Given the description of an element on the screen output the (x, y) to click on. 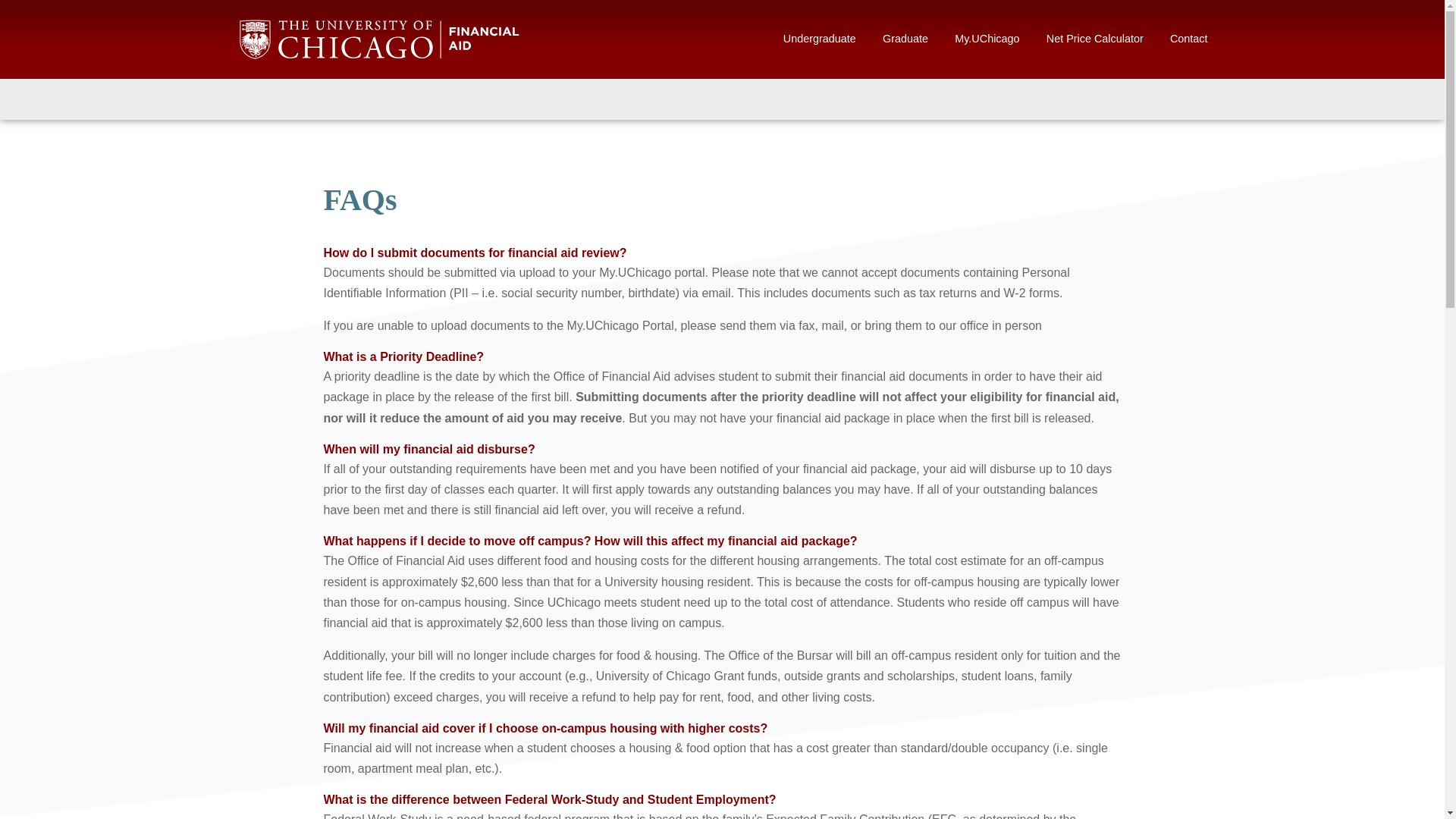
Undergraduate (819, 39)
My.UChicago (987, 39)
Graduate (905, 39)
Net Price Calculator (1095, 39)
Contact (1188, 39)
